Given the description of an element on the screen output the (x, y) to click on. 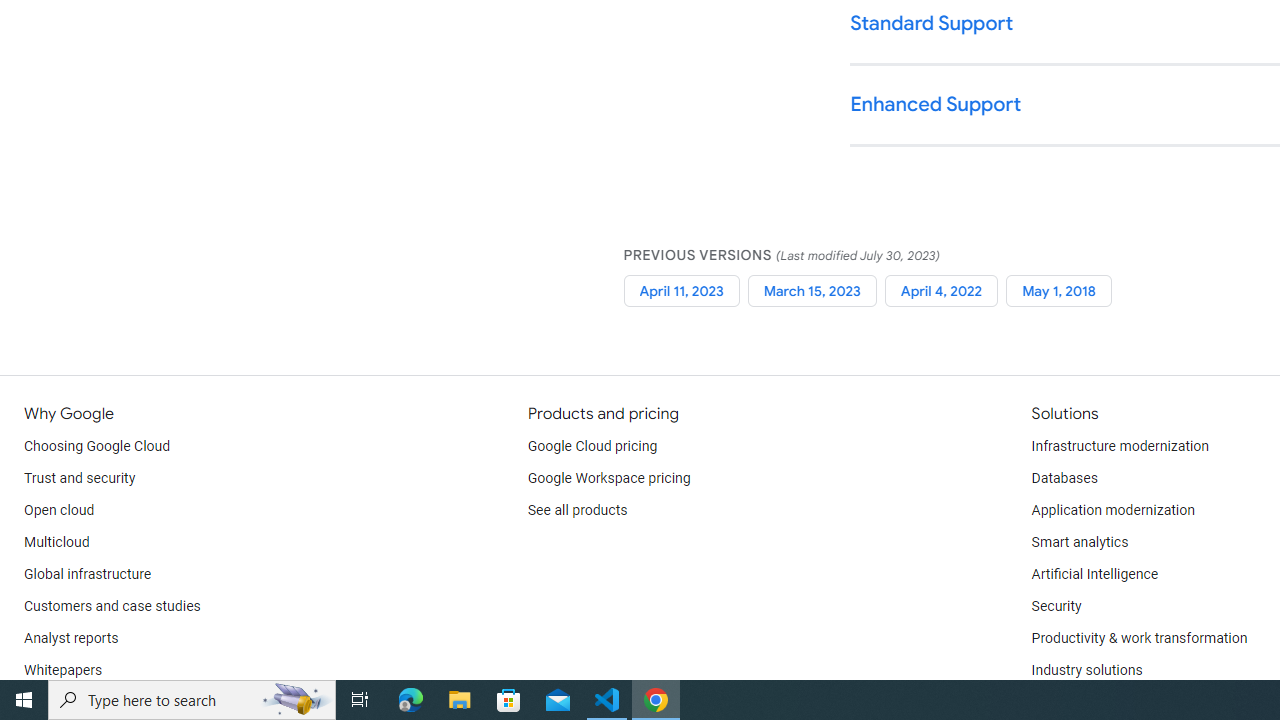
Google Cloud pricing (592, 446)
Trust and security (79, 478)
See all products (577, 511)
Databases (1064, 478)
April 11, 2023 (681, 290)
Analyst reports (71, 638)
April 4, 2022 (941, 290)
Google Workspace pricing (609, 478)
Artificial Intelligence (1094, 574)
Customers and case studies (112, 606)
Smart analytics (1079, 542)
Application modernization (1112, 511)
Industry solutions (1086, 670)
Multicloud (56, 542)
Security (1055, 606)
